Given the description of an element on the screen output the (x, y) to click on. 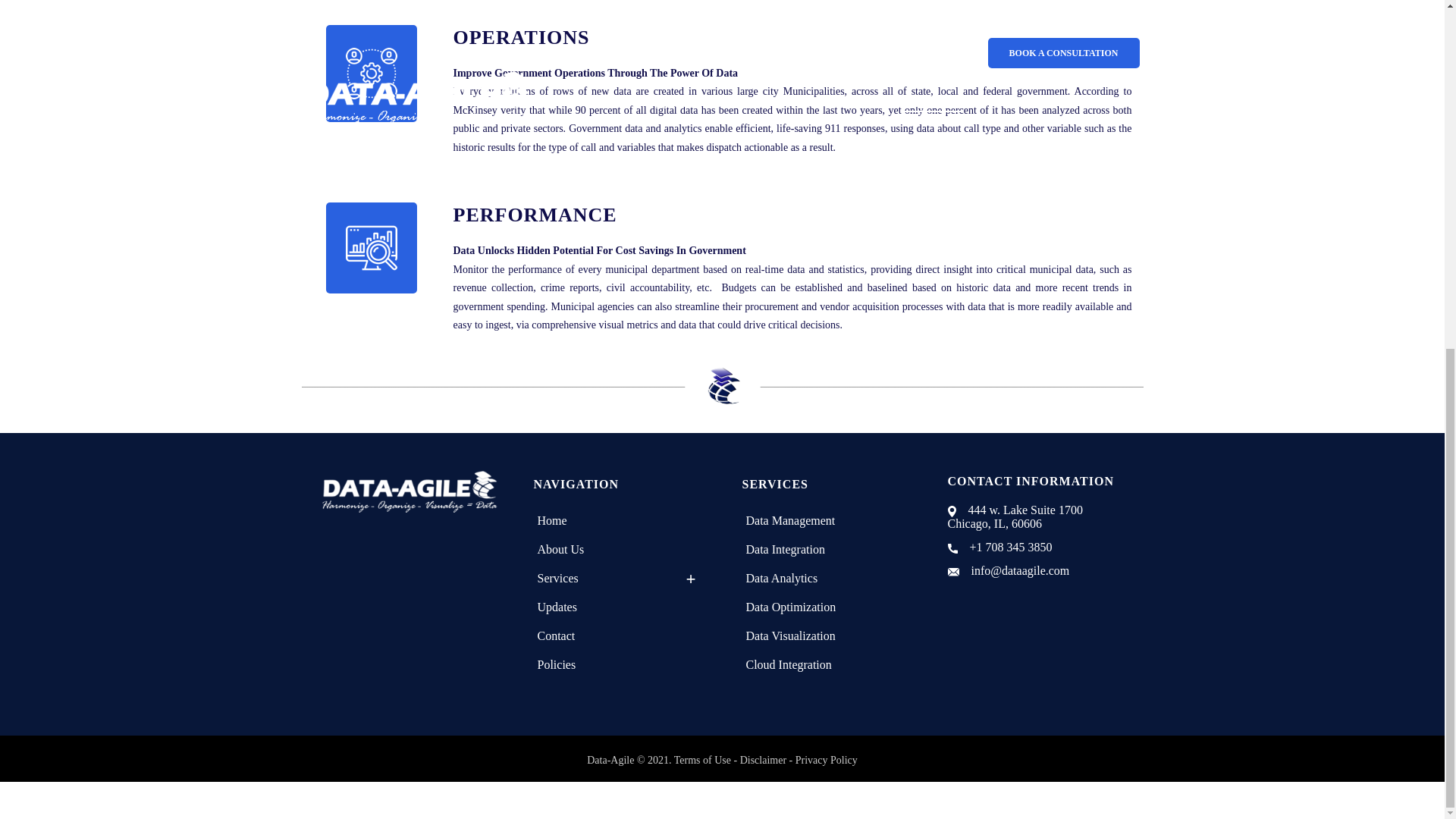
Contact (560, 635)
About Us (564, 549)
Data Integration (788, 549)
Updates (561, 606)
Home (556, 520)
Policies (561, 664)
Services (561, 578)
Data Management (793, 520)
